Given the description of an element on the screen output the (x, y) to click on. 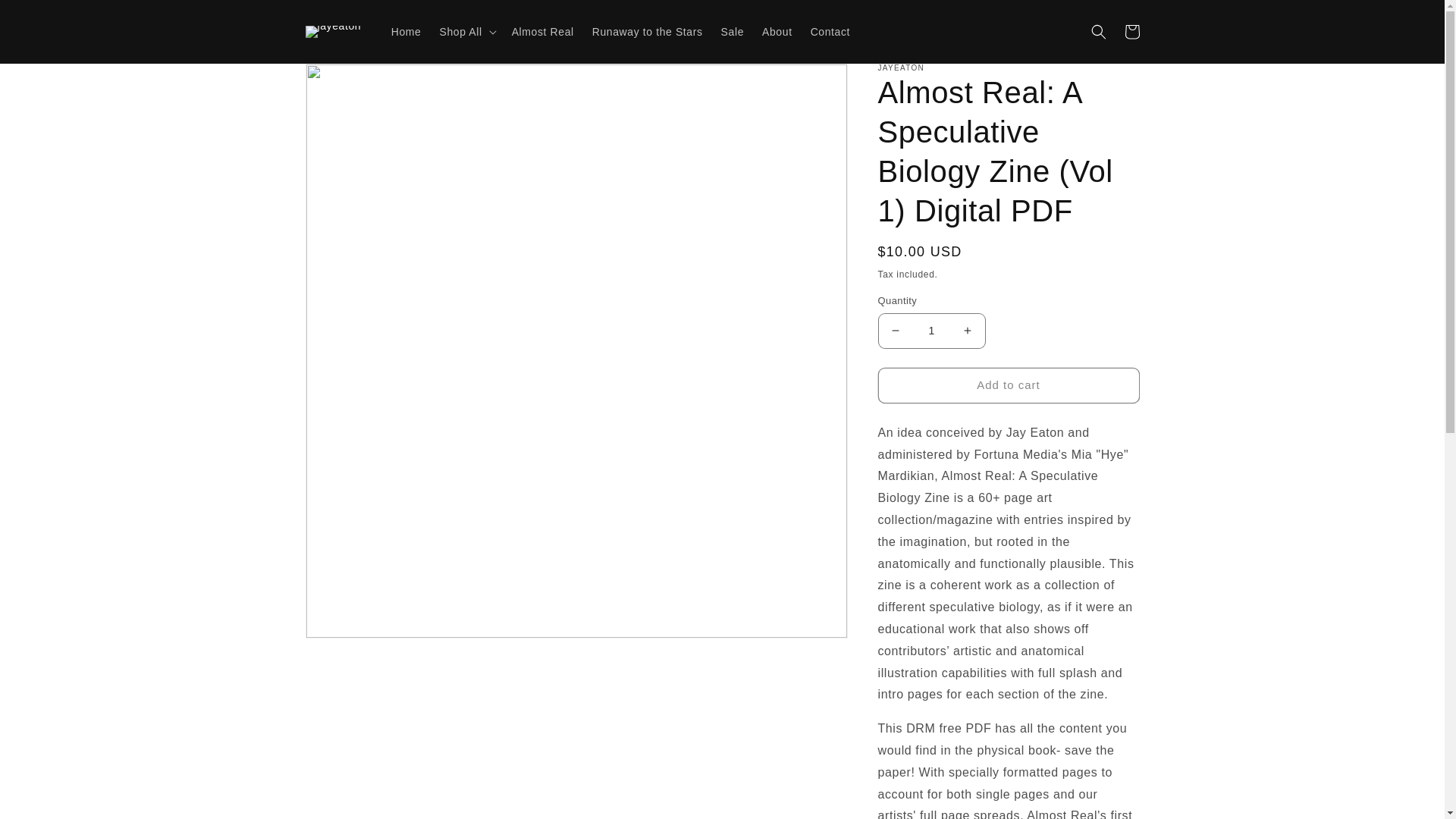
Skip to content (45, 17)
Skip to product information (350, 80)
1 (931, 330)
Contact (830, 31)
Runaway to the Stars (647, 31)
Almost Real (542, 31)
Sale (731, 31)
Home (405, 31)
About (777, 31)
Cart (1131, 31)
